Given the description of an element on the screen output the (x, y) to click on. 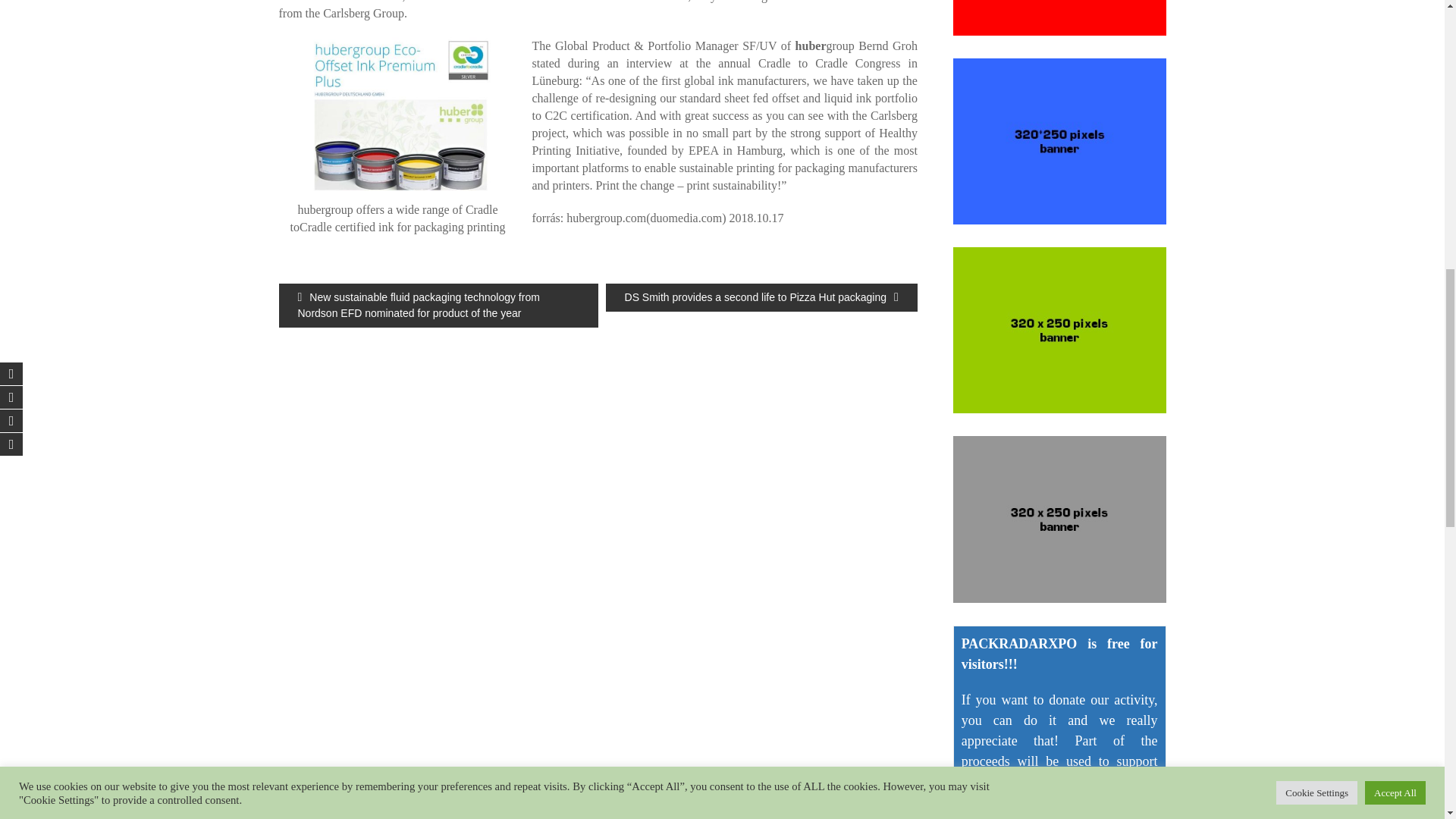
DS Smith provides a second life to Pizza Hut packaging (761, 297)
